Given the description of an element on the screen output the (x, y) to click on. 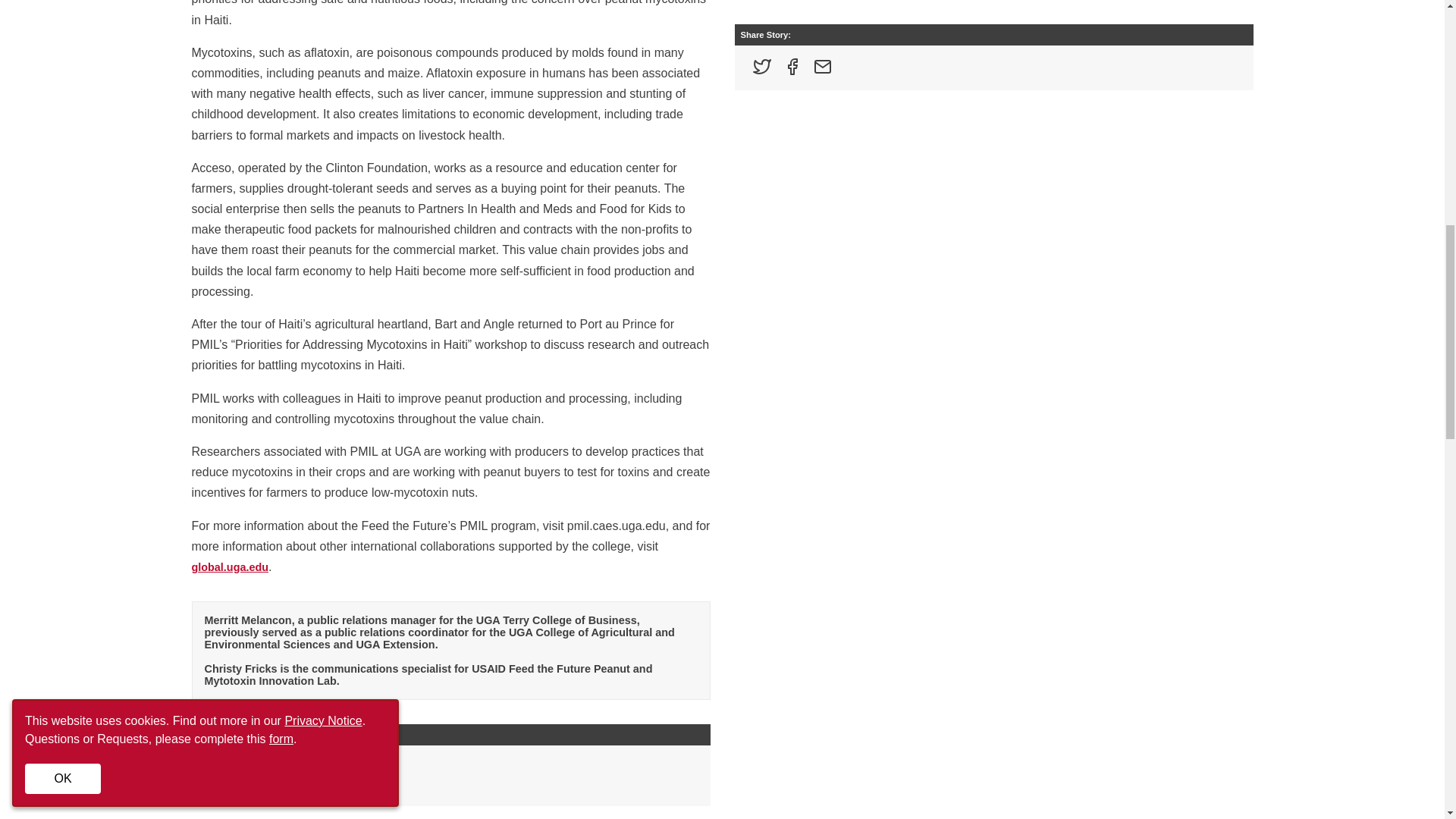
Merritt Melancon (246, 763)
global.uga.edu (228, 567)
Christy Fricks (239, 787)
